Given the description of an element on the screen output the (x, y) to click on. 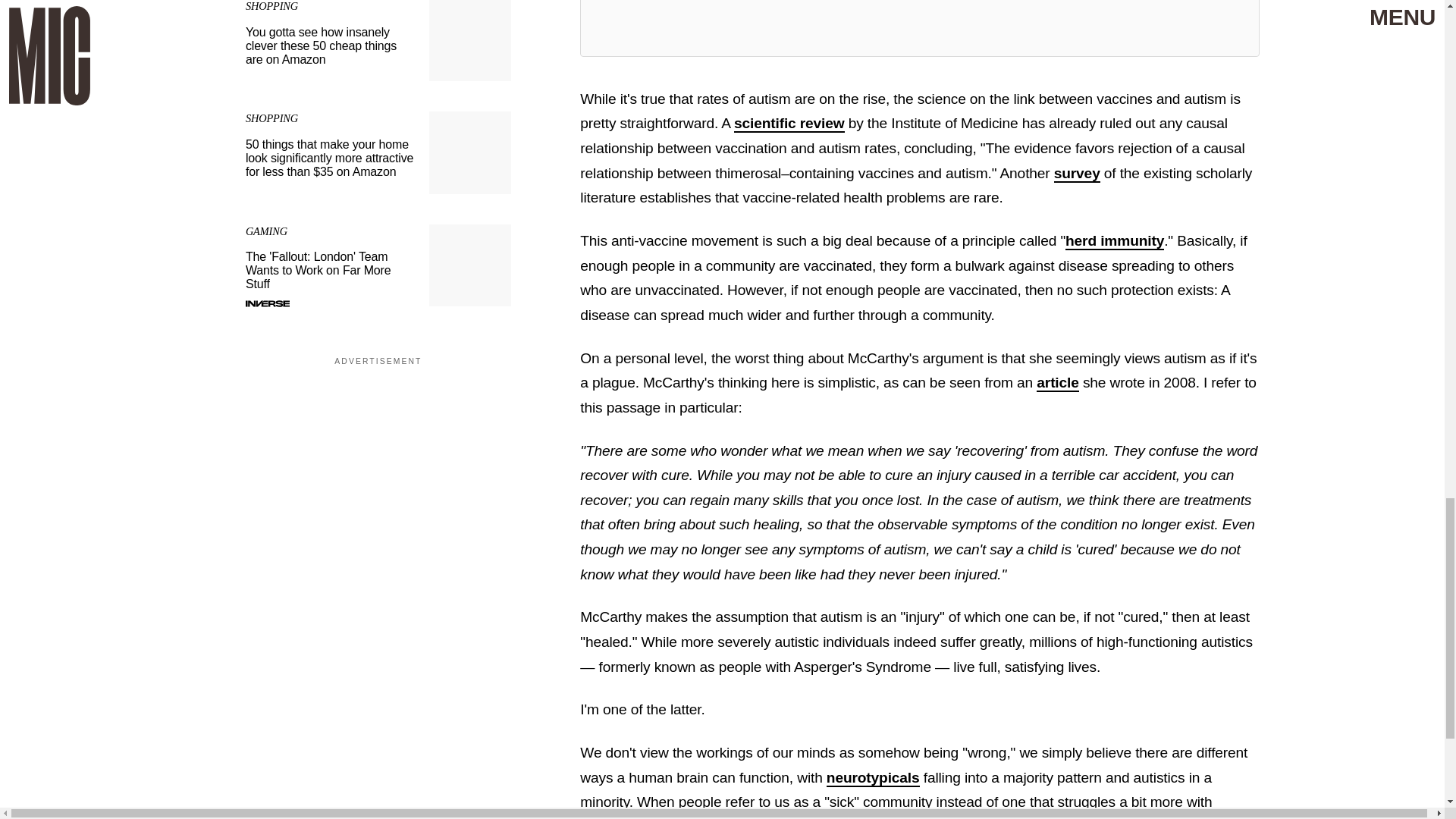
survey (1077, 173)
scientific review (788, 123)
herd immunity (1114, 241)
article (1057, 383)
neurotypicals (873, 778)
